Given the description of an element on the screen output the (x, y) to click on. 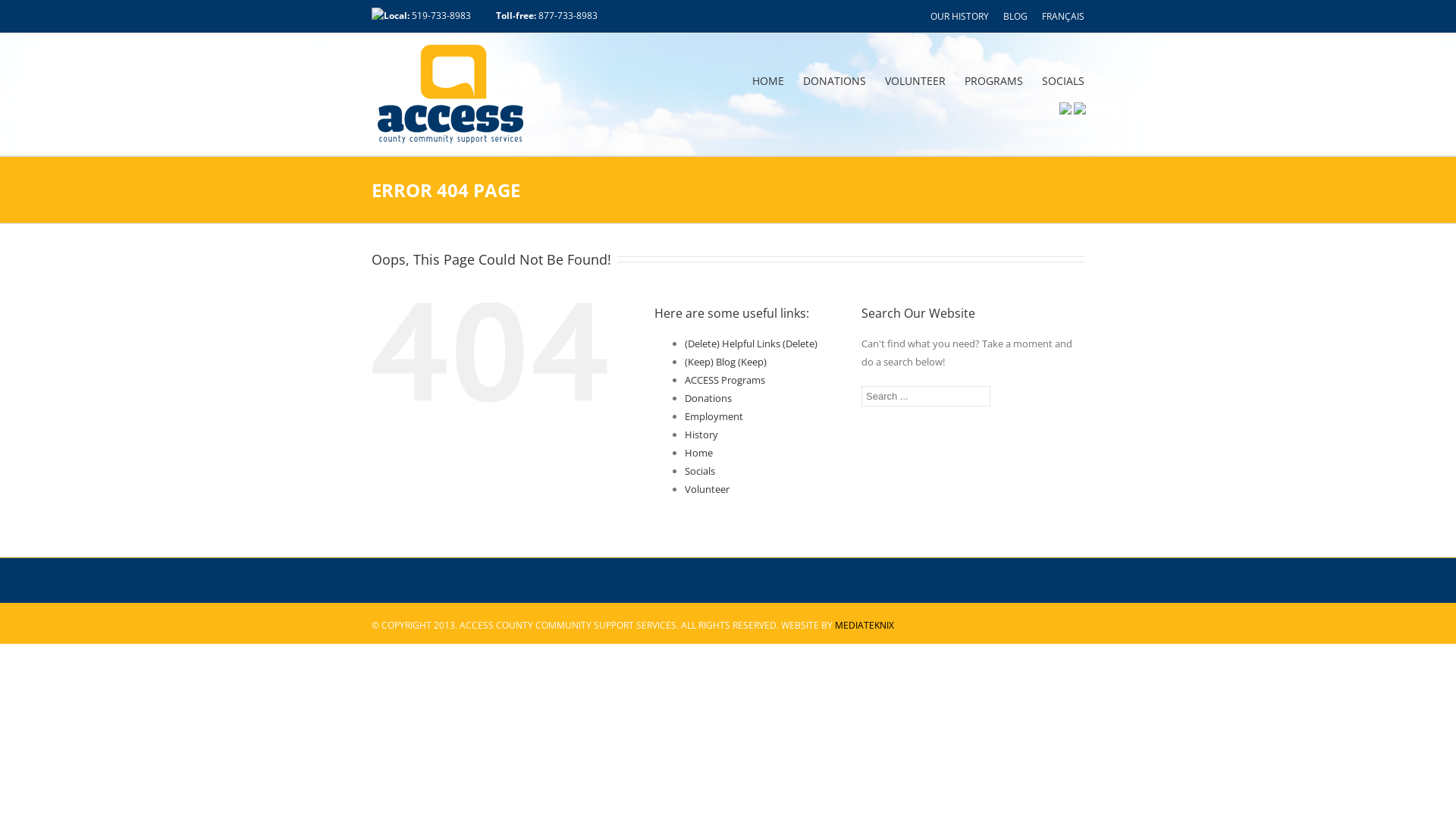
ACCESS Programs Element type: text (724, 379)
BLOG Element type: text (1015, 15)
VOLUNTEER Element type: text (914, 79)
Socials Element type: text (699, 470)
HOME Element type: text (768, 79)
Volunteer Element type: text (706, 488)
Home Element type: text (698, 452)
History Element type: text (701, 434)
SOCIALS Element type: text (1062, 79)
MEDIATEKNIX Element type: text (864, 624)
PROGRAMS Element type: text (993, 79)
Employment Element type: text (713, 416)
Donations Element type: text (707, 397)
(Delete) Helpful Links (Delete) Element type: text (750, 343)
(Keep) Blog (Keep) Element type: text (725, 361)
DONATIONS Element type: text (834, 79)
OUR HISTORY Element type: text (959, 15)
